Given the description of an element on the screen output the (x, y) to click on. 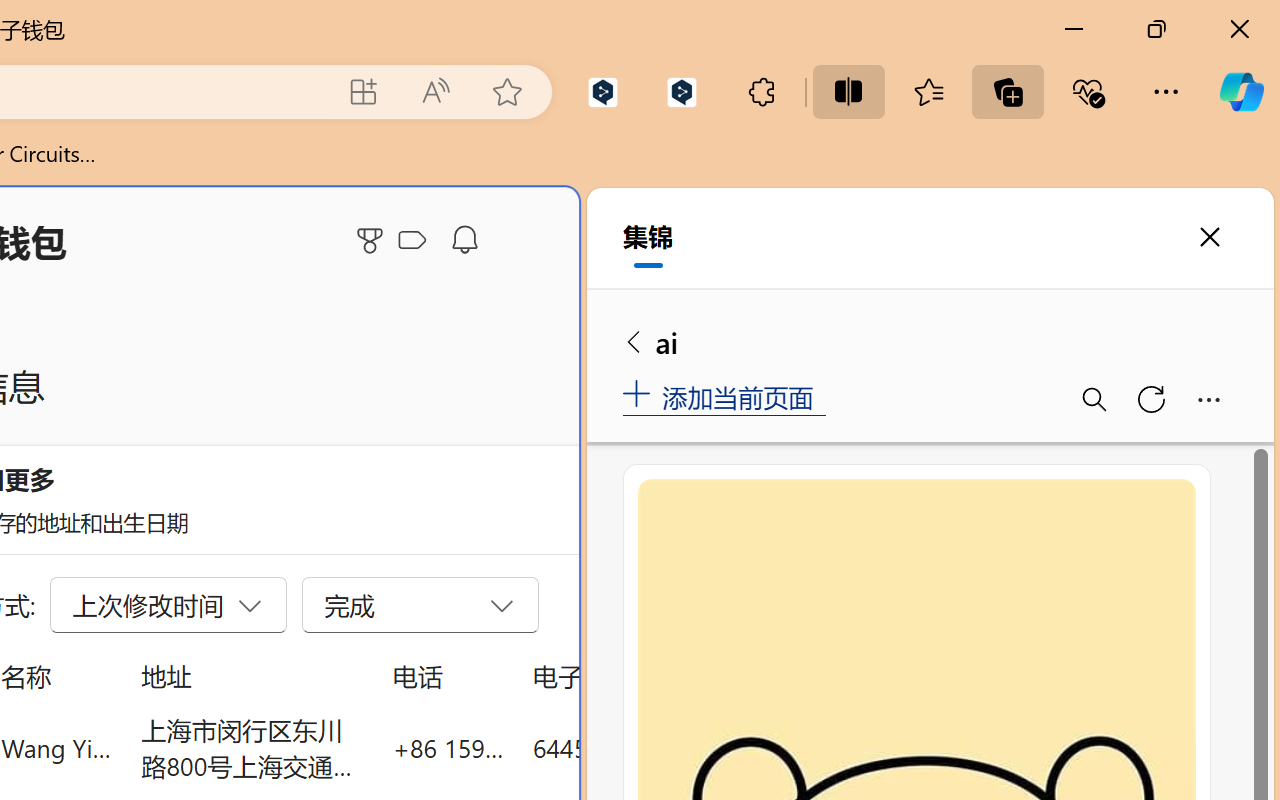
+86 159 0032 4640 (447, 747)
Copilot (Ctrl+Shift+.) (1241, 91)
Microsoft Cashback (415, 241)
